Given the description of an element on the screen output the (x, y) to click on. 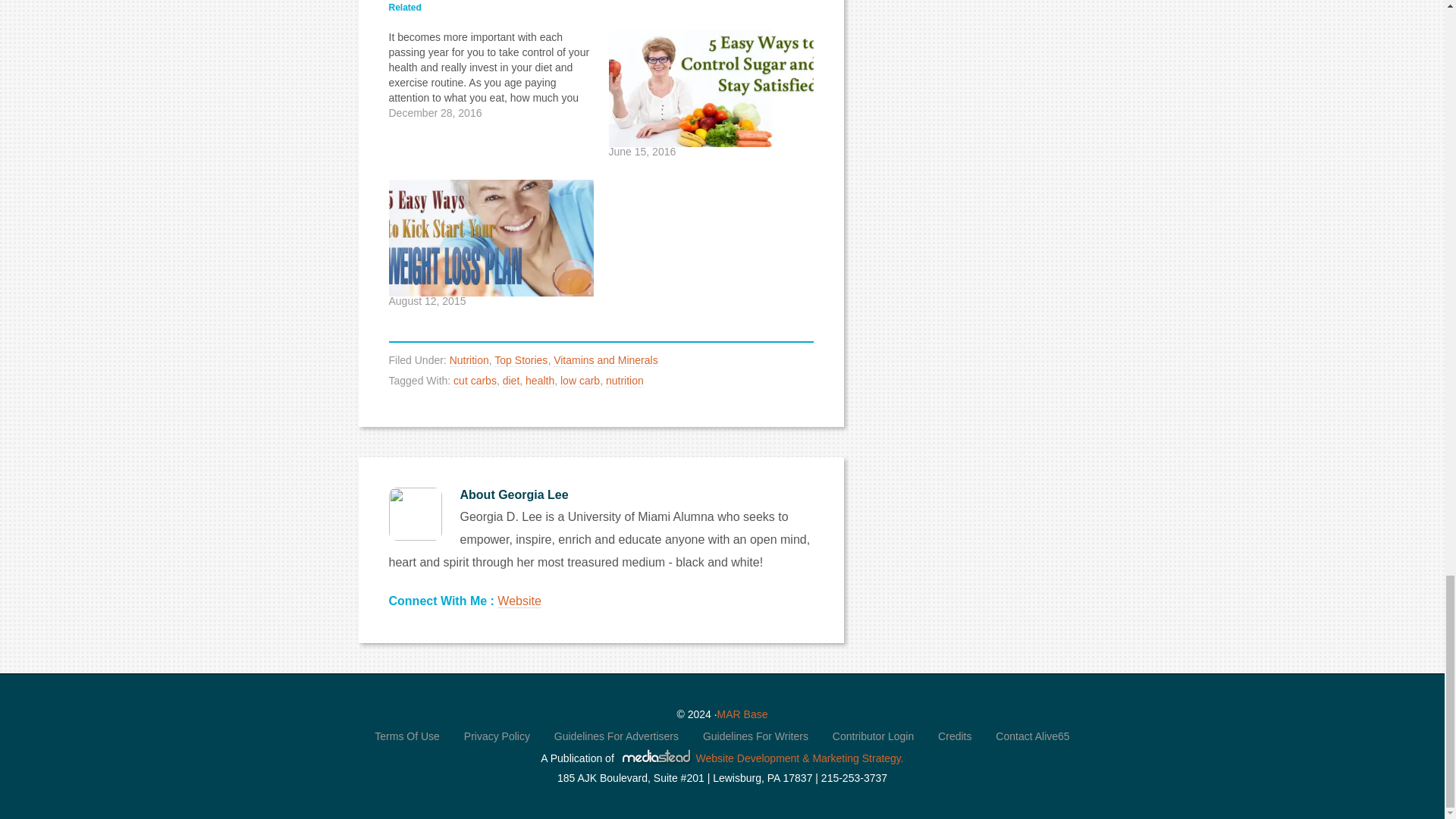
Top Stories (521, 359)
4 More Ways to Cut Carbs and Stay Satisfied (498, 74)
low carb (579, 380)
Nutrition (469, 359)
diet (510, 380)
Georgia Lee Personal Blog (519, 601)
Vitamins and Minerals (605, 359)
health (539, 380)
nutrition (624, 380)
5 Easy Ways to Control Sugar and Stay Satisfied (710, 87)
Website (519, 601)
cut carbs (474, 380)
5 Easy Ways to Kick Start Your Weight Loss Plan (490, 237)
